Given the description of an element on the screen output the (x, y) to click on. 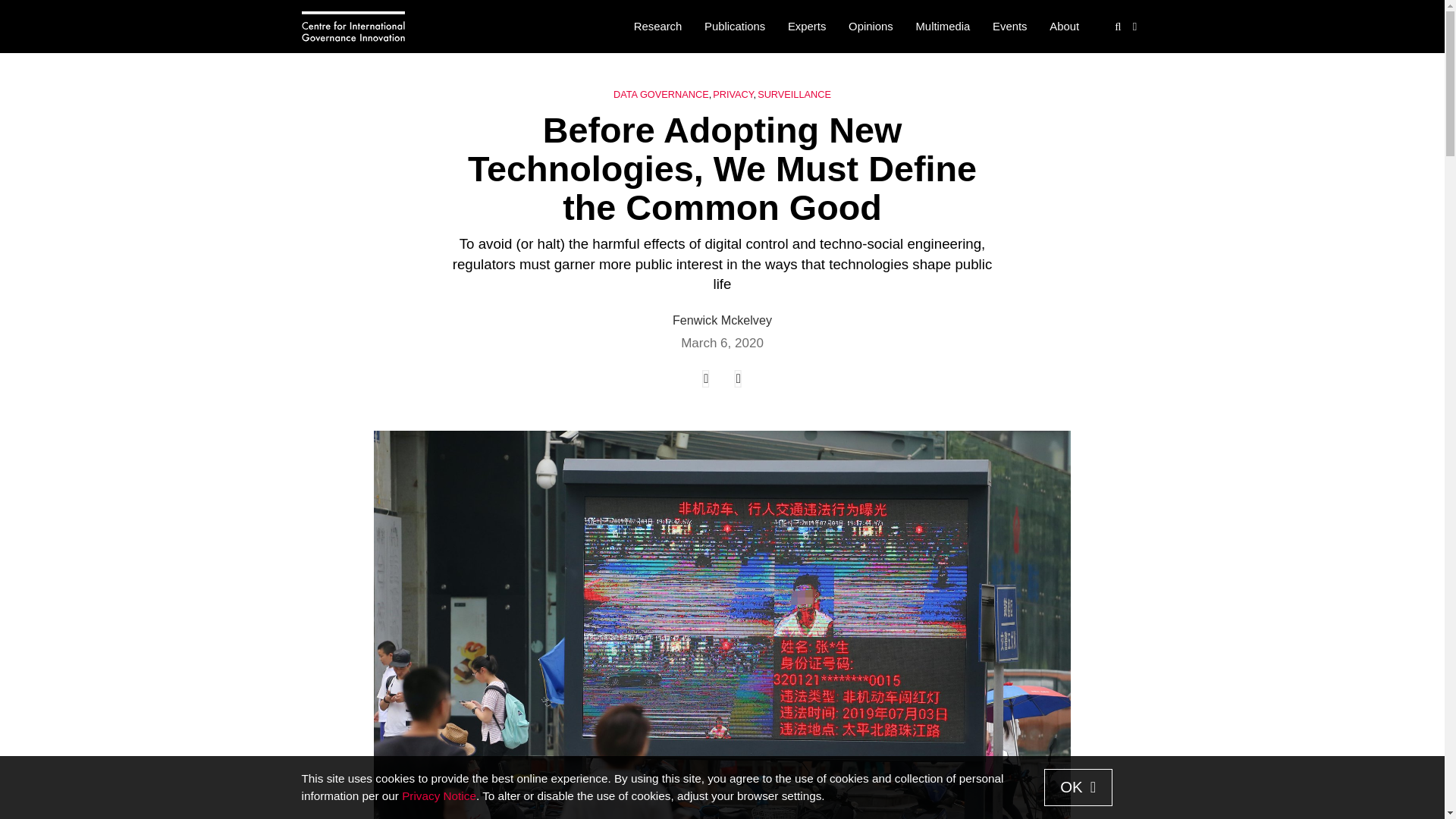
Experts (806, 27)
Research (658, 27)
Opinions (870, 27)
Multimedia (942, 27)
About (1064, 27)
Publications (734, 27)
Events (1009, 27)
